Given the description of an element on the screen output the (x, y) to click on. 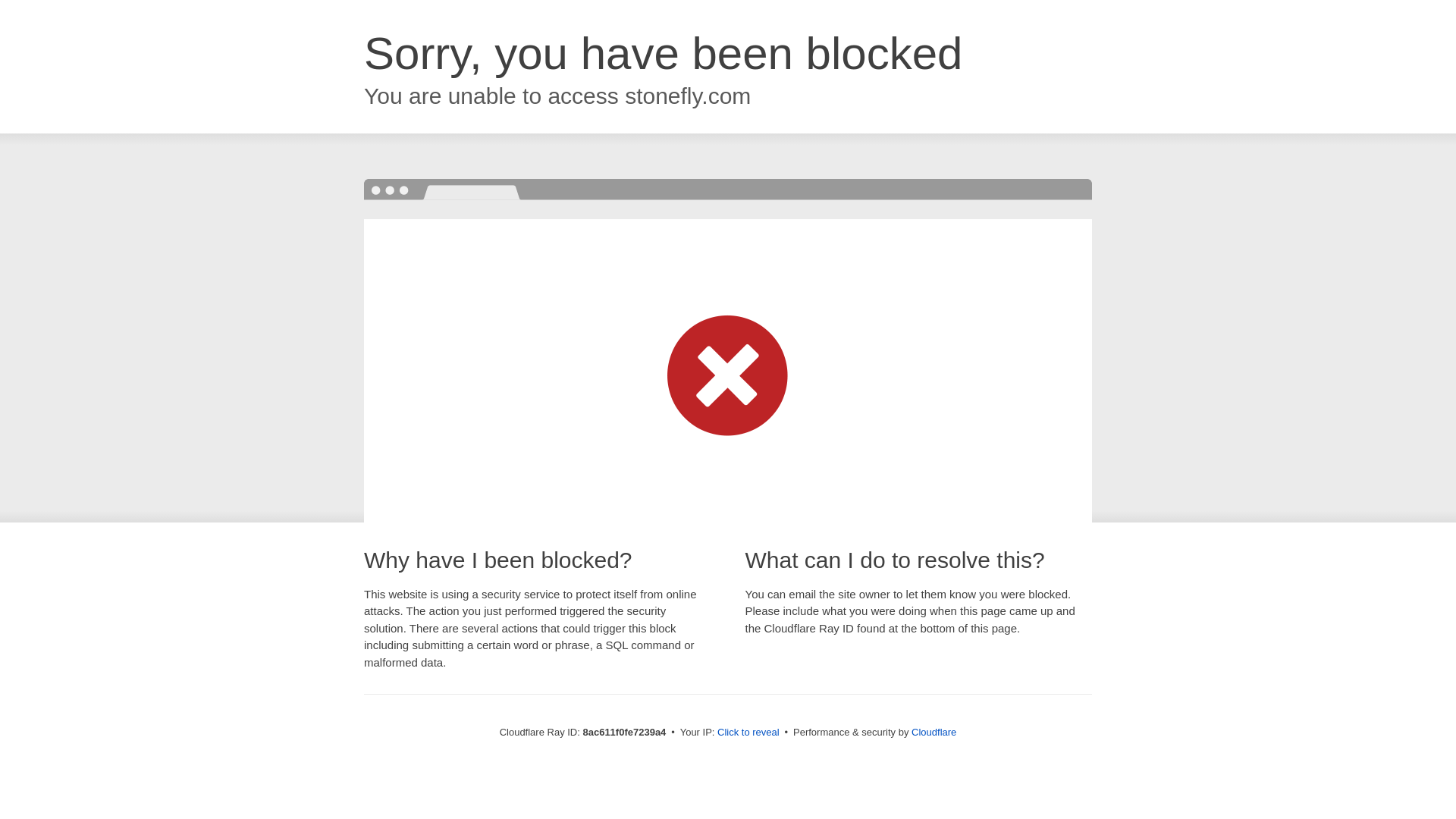
Click to reveal (747, 732)
Cloudflare (933, 731)
